Given the description of an element on the screen output the (x, y) to click on. 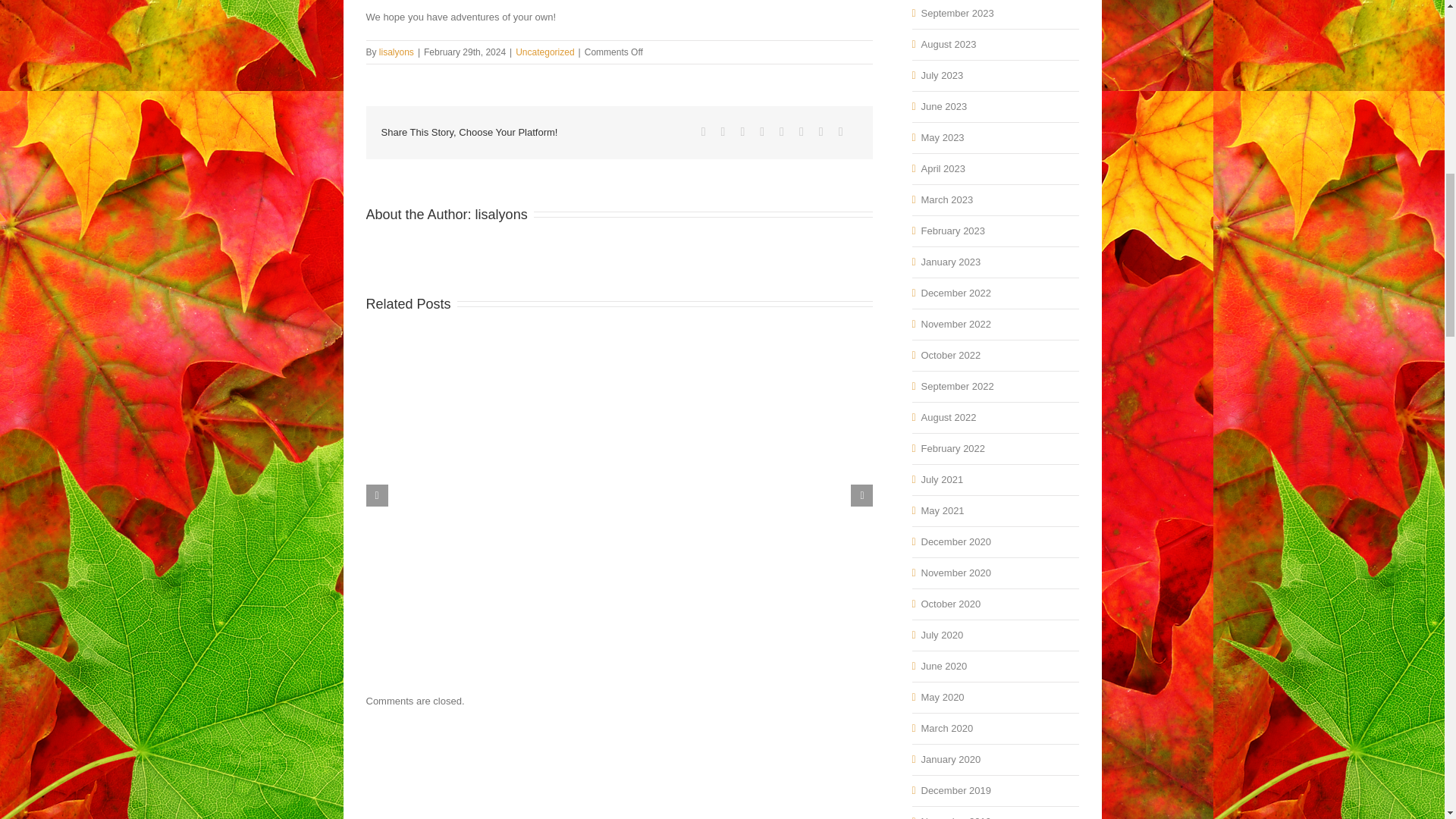
Posts by lisalyons (395, 51)
lisalyons (395, 51)
Posts by lisalyons (501, 214)
